Given the description of an element on the screen output the (x, y) to click on. 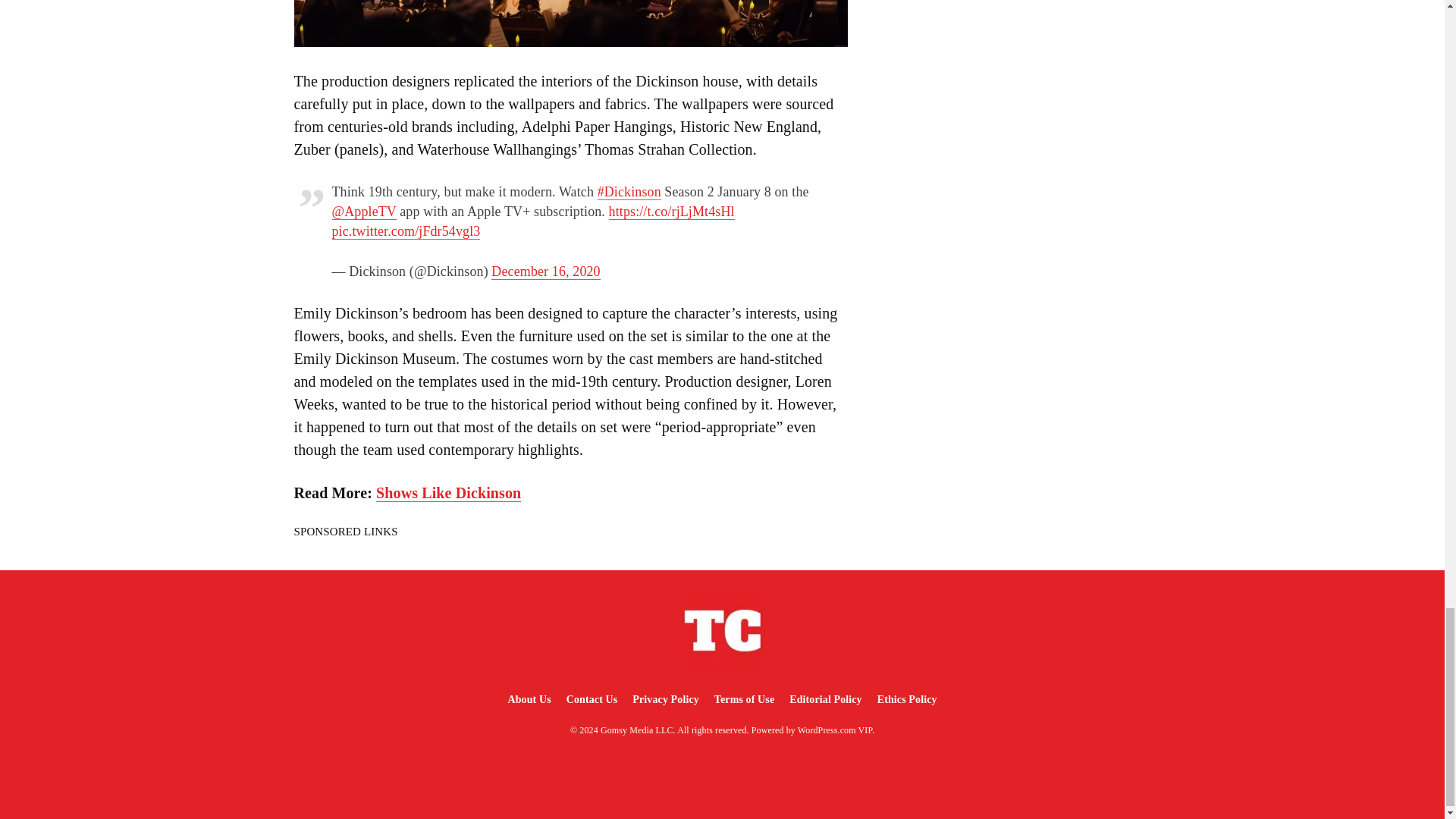
Editorial Policy (825, 699)
Contact Us (592, 699)
WordPress.com VIP (834, 729)
December 16, 2020 (545, 271)
Terms of Use (743, 699)
Privacy Policy (665, 699)
Shows Like Dickinson (448, 493)
About Us (528, 699)
Ethics Policy (906, 699)
